Given the description of an element on the screen output the (x, y) to click on. 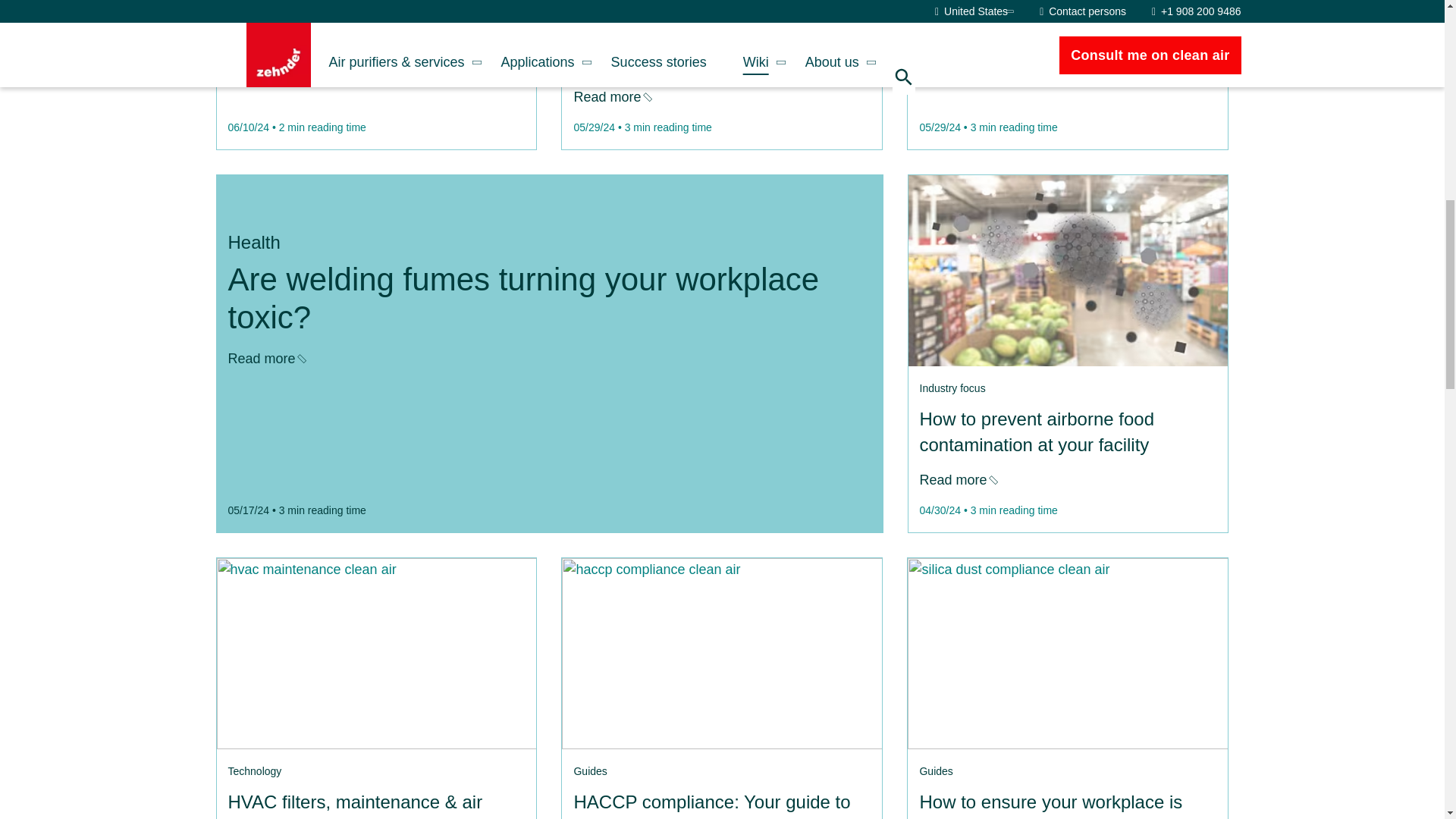
How to prevent airborne food contamination at your facility (956, 479)
Are welding fumes turning your workplace toxic?  (265, 358)
How to ensure your workplace is silica dust safe (1066, 653)
The harmful mental health effects of air pollution (265, 70)
How to prevent airborne food contamination at your facility (1066, 270)
HACCP compliance: Your guide to food safety (721, 653)
